Given the description of an element on the screen output the (x, y) to click on. 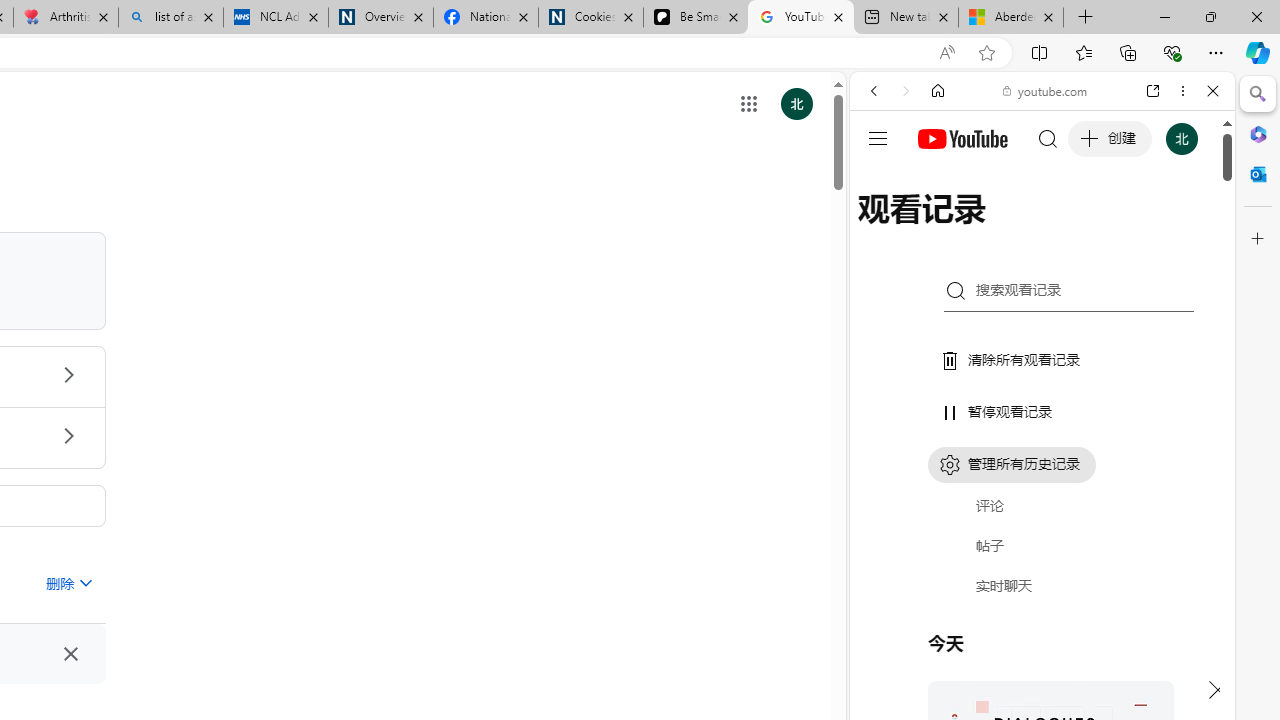
Google (1042, 494)
Search Filter, IMAGES (939, 228)
#you (1042, 445)
This site scope (936, 180)
#you (1042, 445)
Search Filter, WEB (882, 228)
Class: asE2Ub NMm5M (84, 582)
Web scope (882, 180)
